Given the description of an element on the screen output the (x, y) to click on. 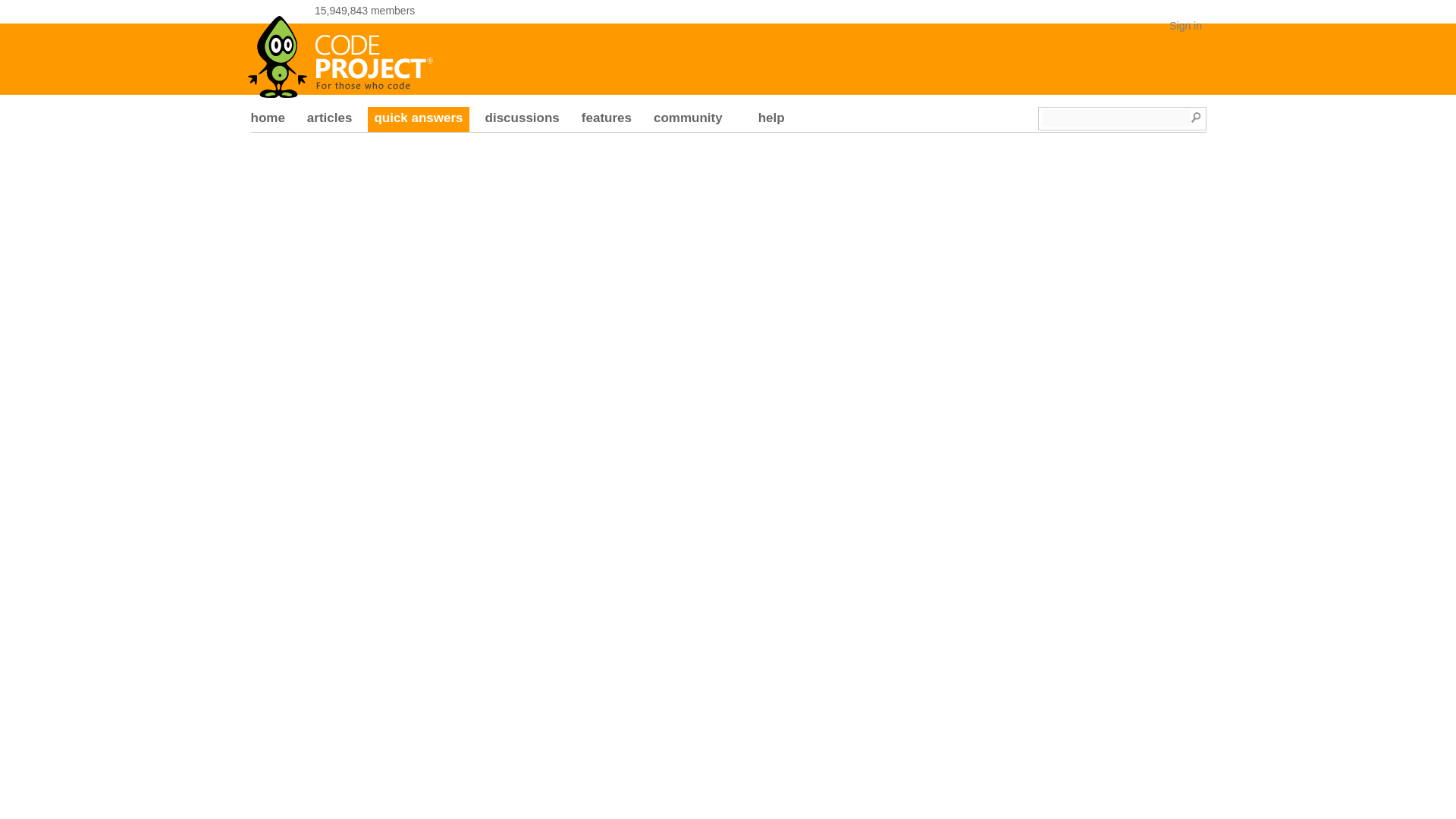
articles (329, 119)
quick answers (418, 119)
CodeProject (340, 51)
Sign in (1185, 25)
home (266, 119)
discussions (522, 119)
